Given the description of an element on the screen output the (x, y) to click on. 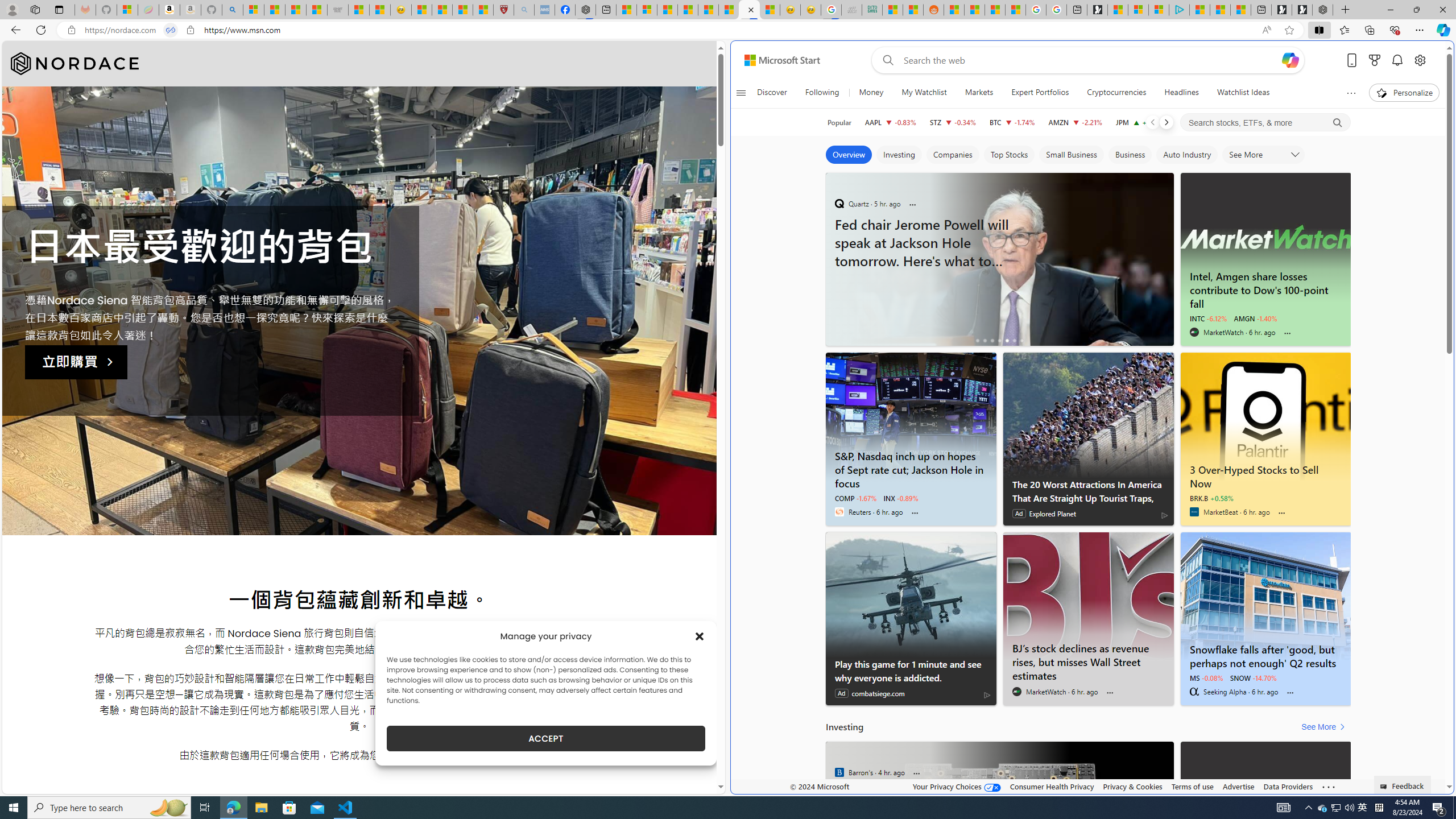
My Watchlist (923, 92)
Watchlist Ideas (1243, 92)
MarketBeat (1193, 511)
Quartz (839, 772)
Your Privacy Choices (956, 786)
These 3 Stocks Pay You More Than 5% to Own Them (1240, 9)
